Given the description of an element on the screen output the (x, y) to click on. 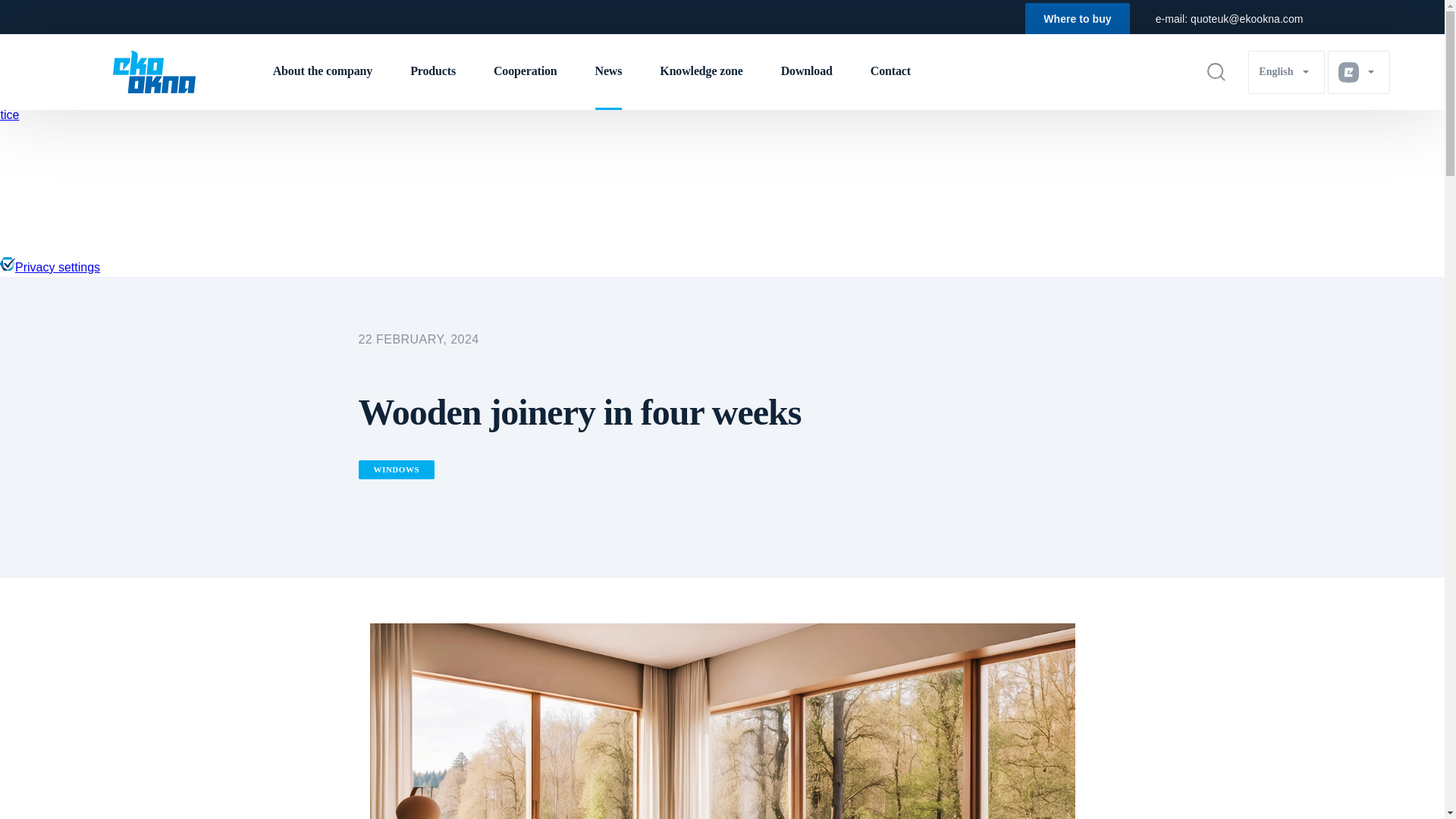
About the company (322, 71)
Where to buy (1077, 18)
About the company (322, 71)
